Given the description of an element on the screen output the (x, y) to click on. 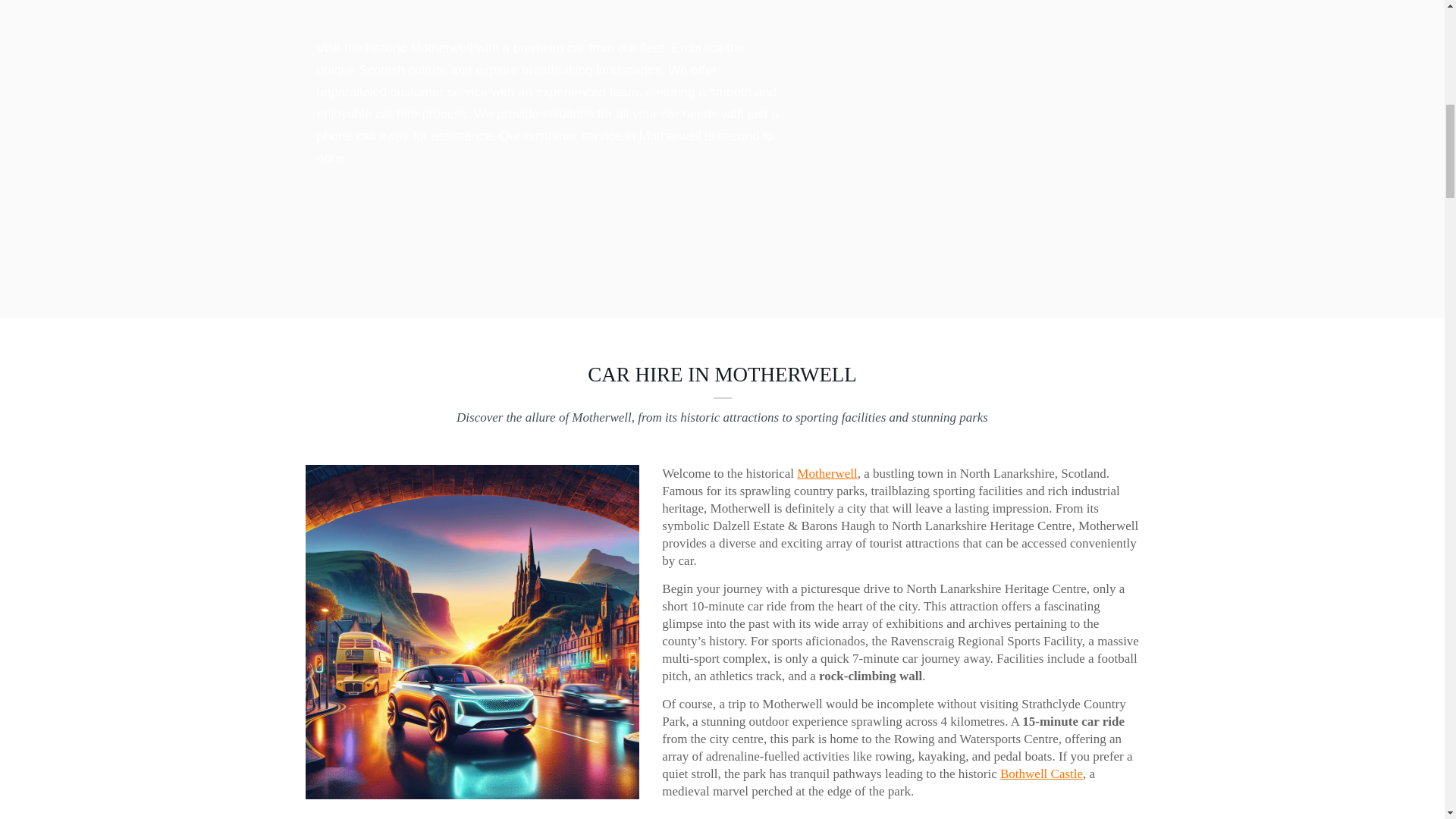
Motherwell (826, 473)
Bothwell Castle (1041, 773)
